Given the description of an element on the screen output the (x, y) to click on. 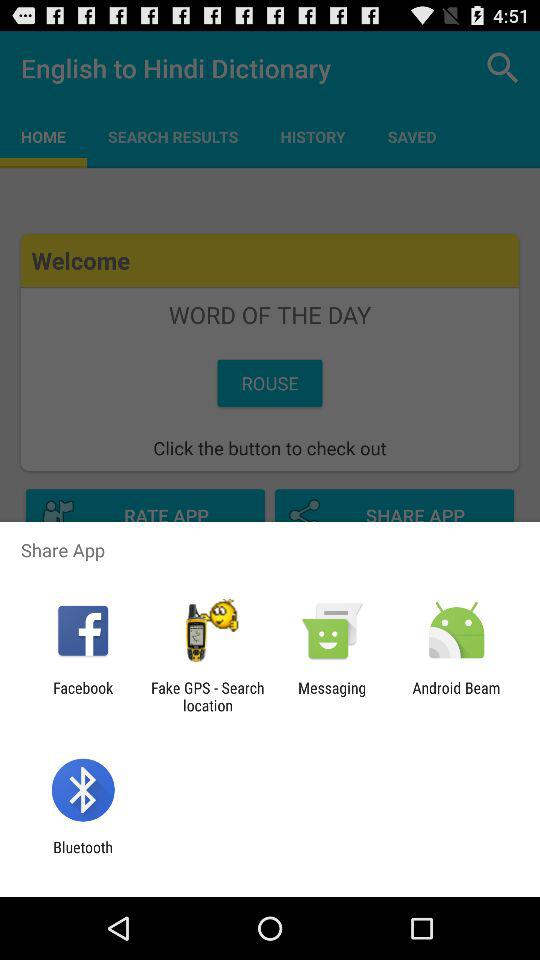
turn on app next to fake gps search app (83, 696)
